Given the description of an element on the screen output the (x, y) to click on. 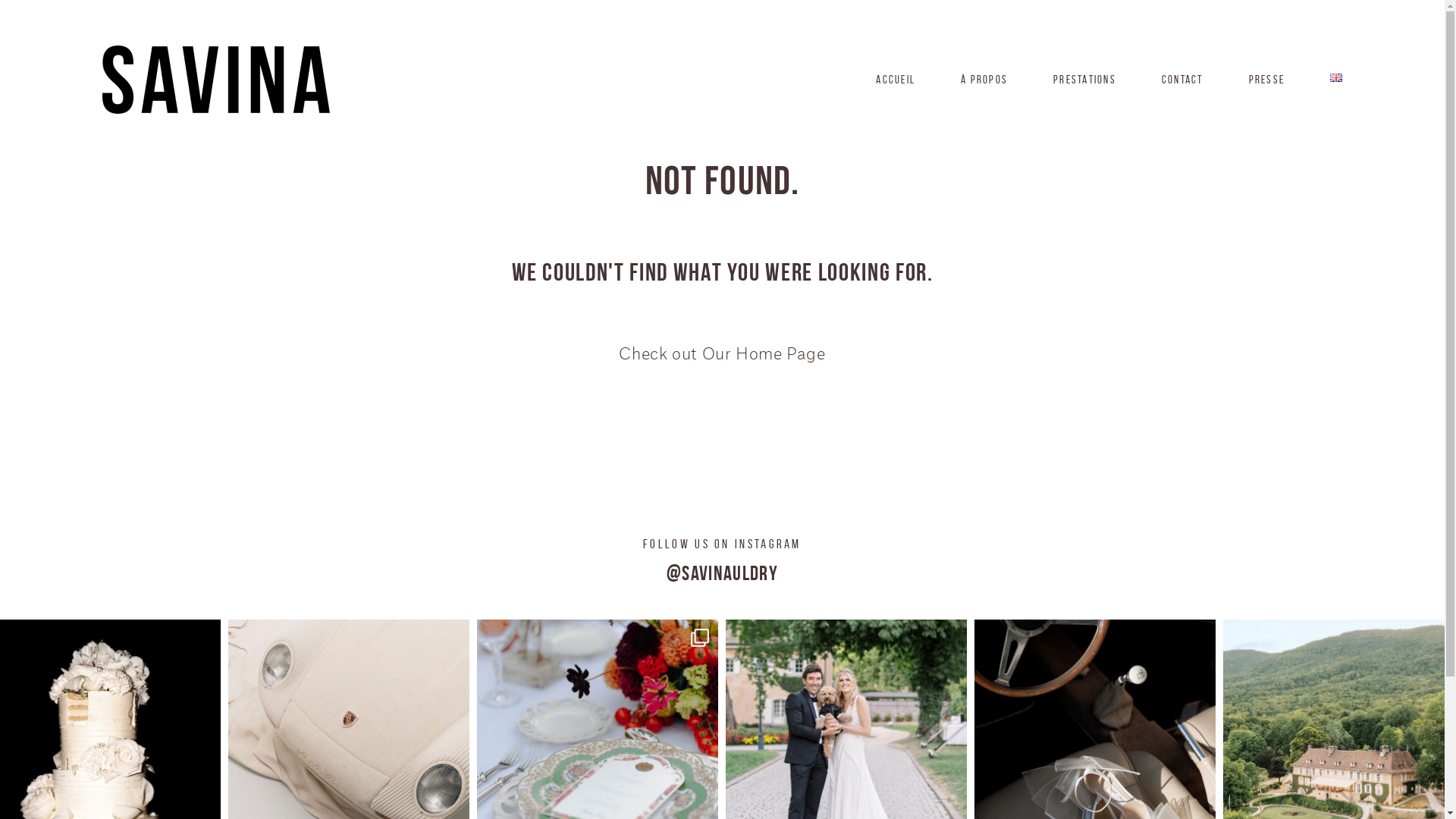
CONTACT Element type: text (1182, 78)
Check out Our Home Page Element type: text (721, 354)
ACCUEIL Element type: text (895, 78)
PRESTATIONS Element type: text (1084, 78)
@SAVINAULDRY Element type: text (722, 572)
PRESSE Element type: text (1266, 78)
